Given the description of an element on the screen output the (x, y) to click on. 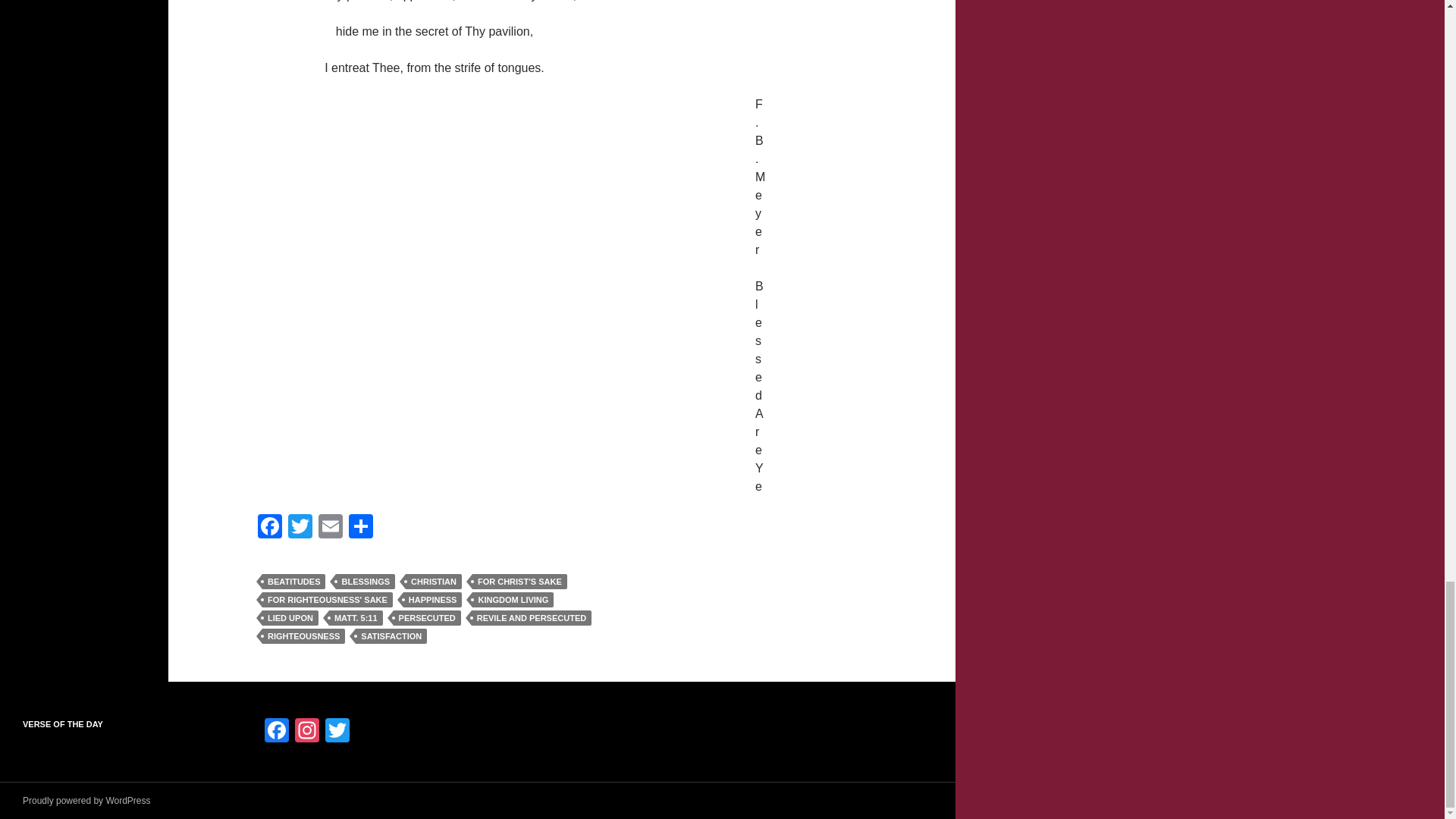
Facebook (277, 732)
Facebook (269, 528)
Twitter (300, 528)
Email (330, 528)
